Given the description of an element on the screen output the (x, y) to click on. 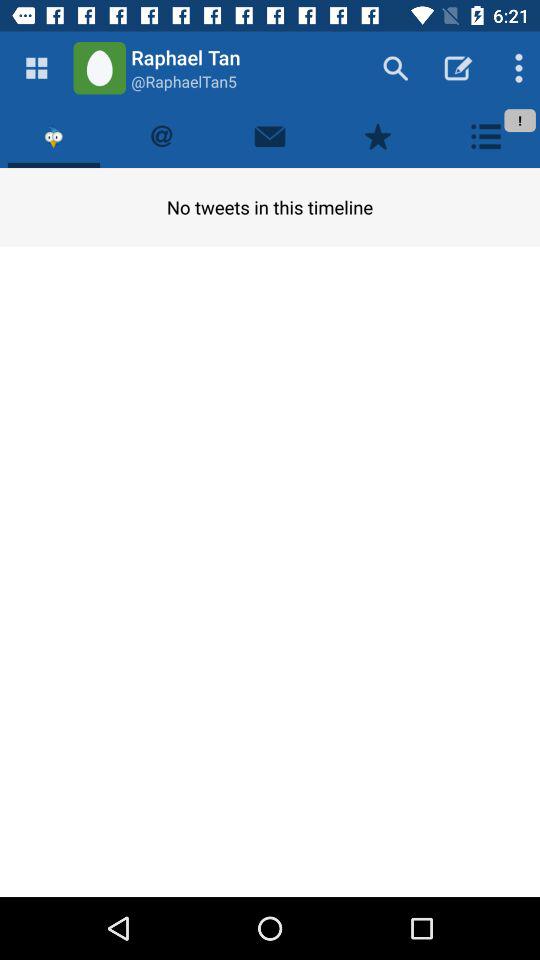
go to tweet timeline (54, 136)
